Given the description of an element on the screen output the (x, y) to click on. 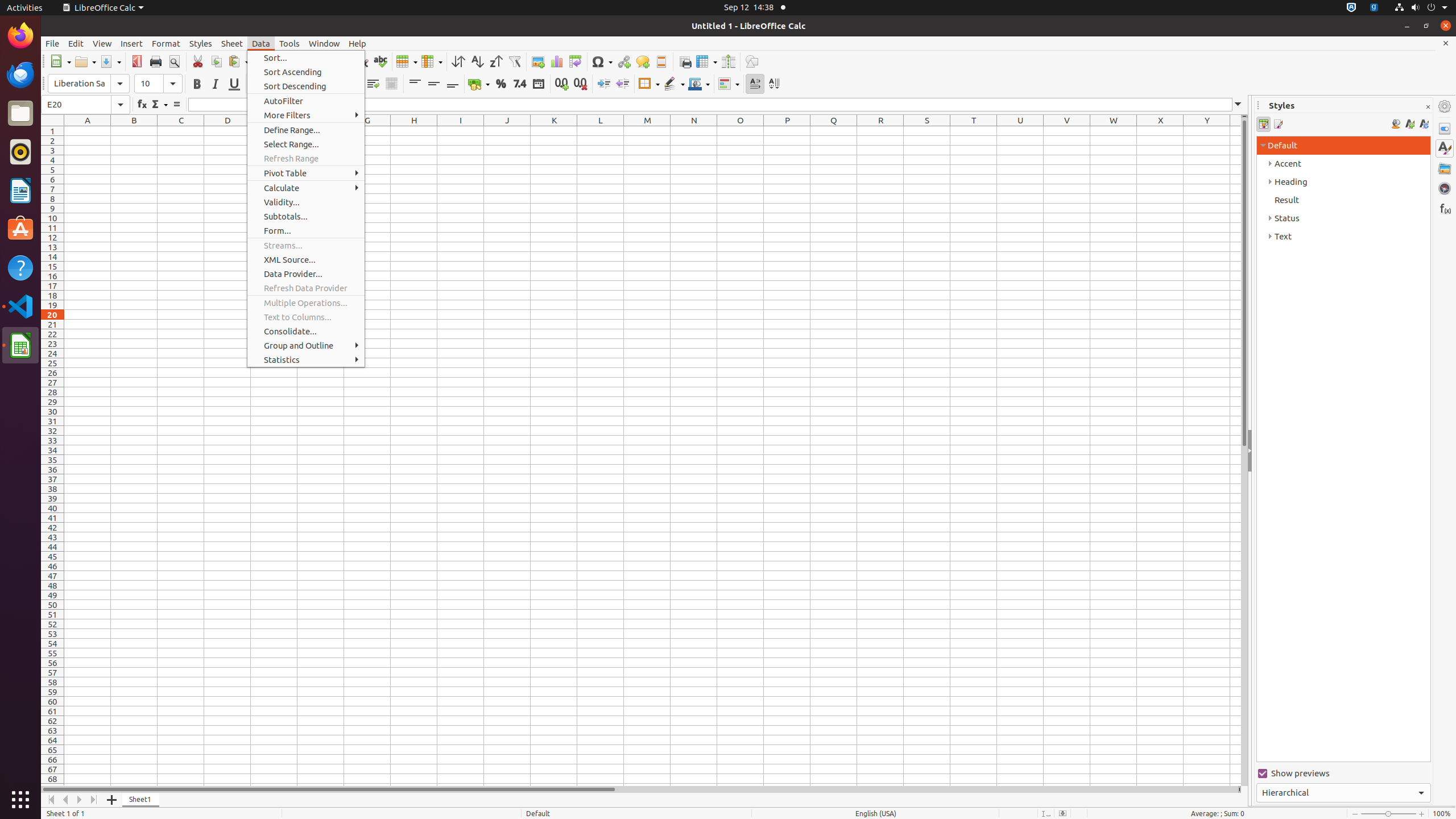
Styles Element type: menu (200, 43)
Row Element type: push-button (406, 61)
Expand Formula Bar Element type: push-button (1237, 104)
Subtotals... Element type: menu-item (305, 216)
X1 Element type: table-cell (1159, 130)
